Given the description of an element on the screen output the (x, y) to click on. 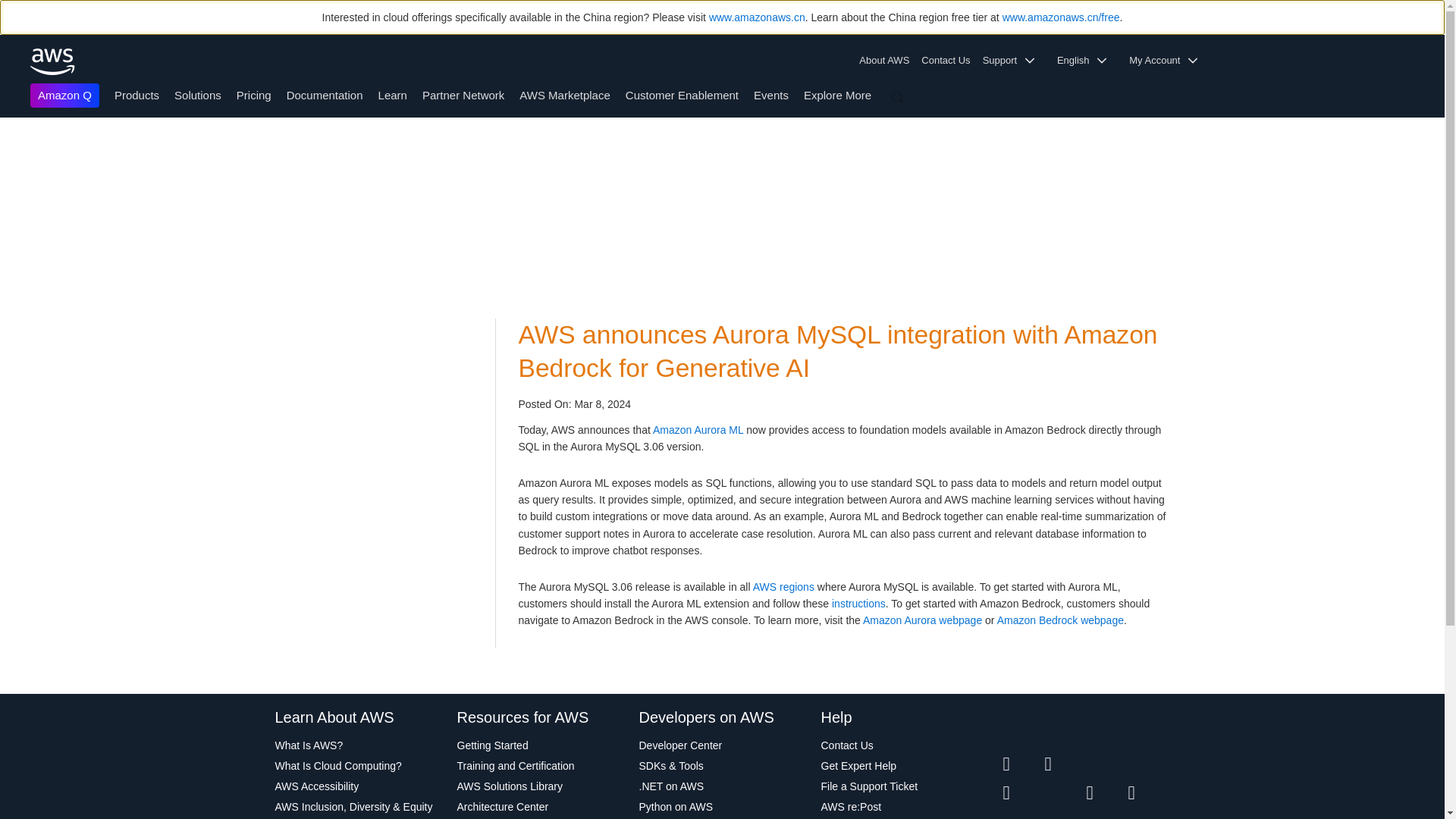
Click here to return to Amazon Web Services homepage (52, 61)
Facebook (1065, 763)
www.amazonaws.cn (757, 17)
English   (1086, 60)
Events (771, 94)
Learn (392, 94)
AWS Marketplace (564, 94)
Solutions (197, 94)
My Account   (1168, 60)
Documentation (324, 94)
Products (136, 94)
Email (1149, 792)
Instagram (1149, 763)
Support   (1013, 60)
Contact Us (945, 60)
